Given the description of an element on the screen output the (x, y) to click on. 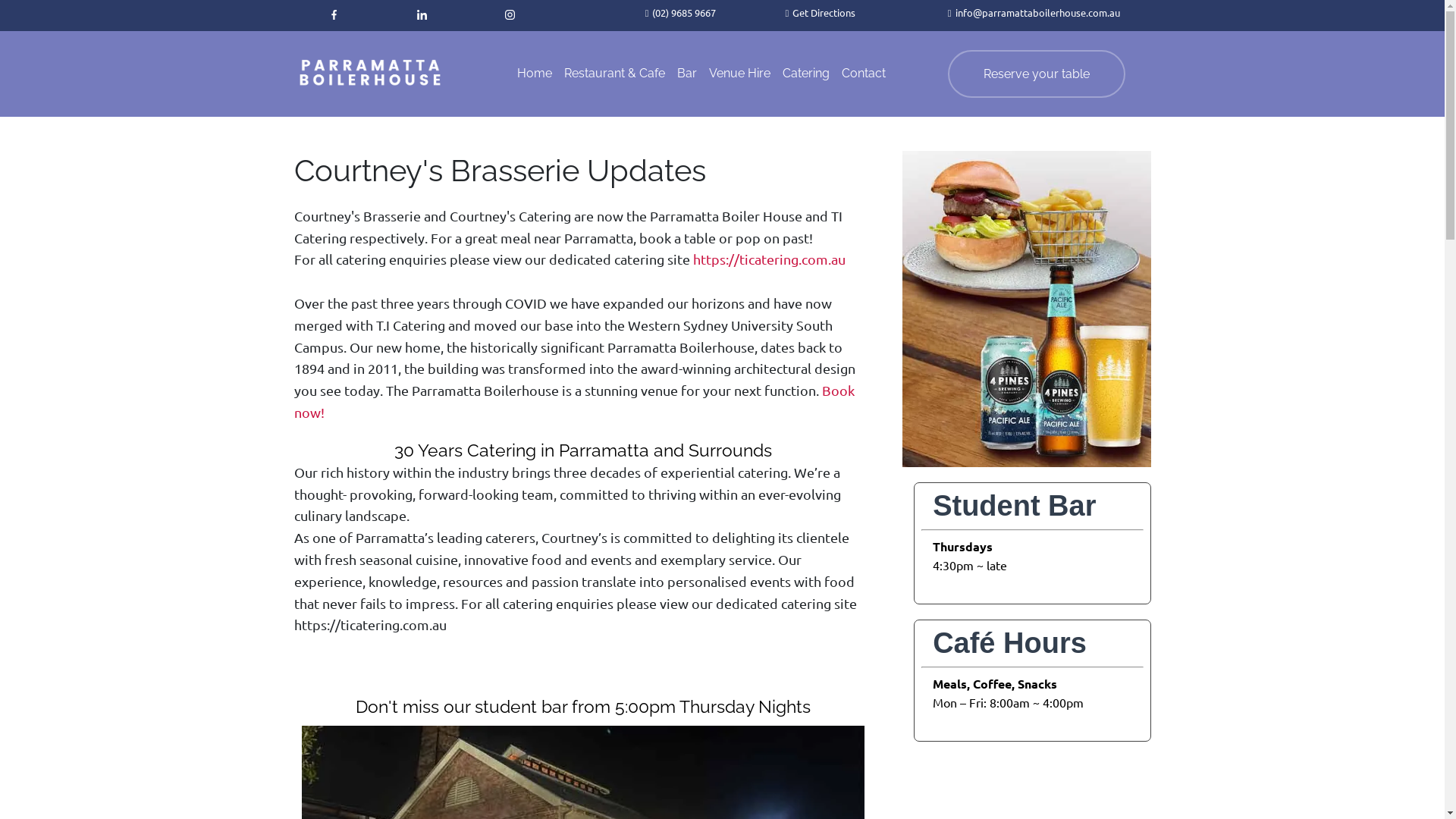
Catering Element type: text (805, 73)
https://ticatering.com.au Element type: text (769, 258)
Bar Element type: text (686, 73)
Home Element type: text (534, 73)
Book now! Element type: text (574, 401)
Venue Hire Element type: text (739, 73)
Contact Element type: text (863, 73)
(02) 9685 9667 Element type: text (683, 12)
Restaurant & Cafe Element type: text (614, 73)
Get Directions Element type: text (823, 12)
Reserve your table Element type: text (1036, 73)
